Given the description of an element on the screen output the (x, y) to click on. 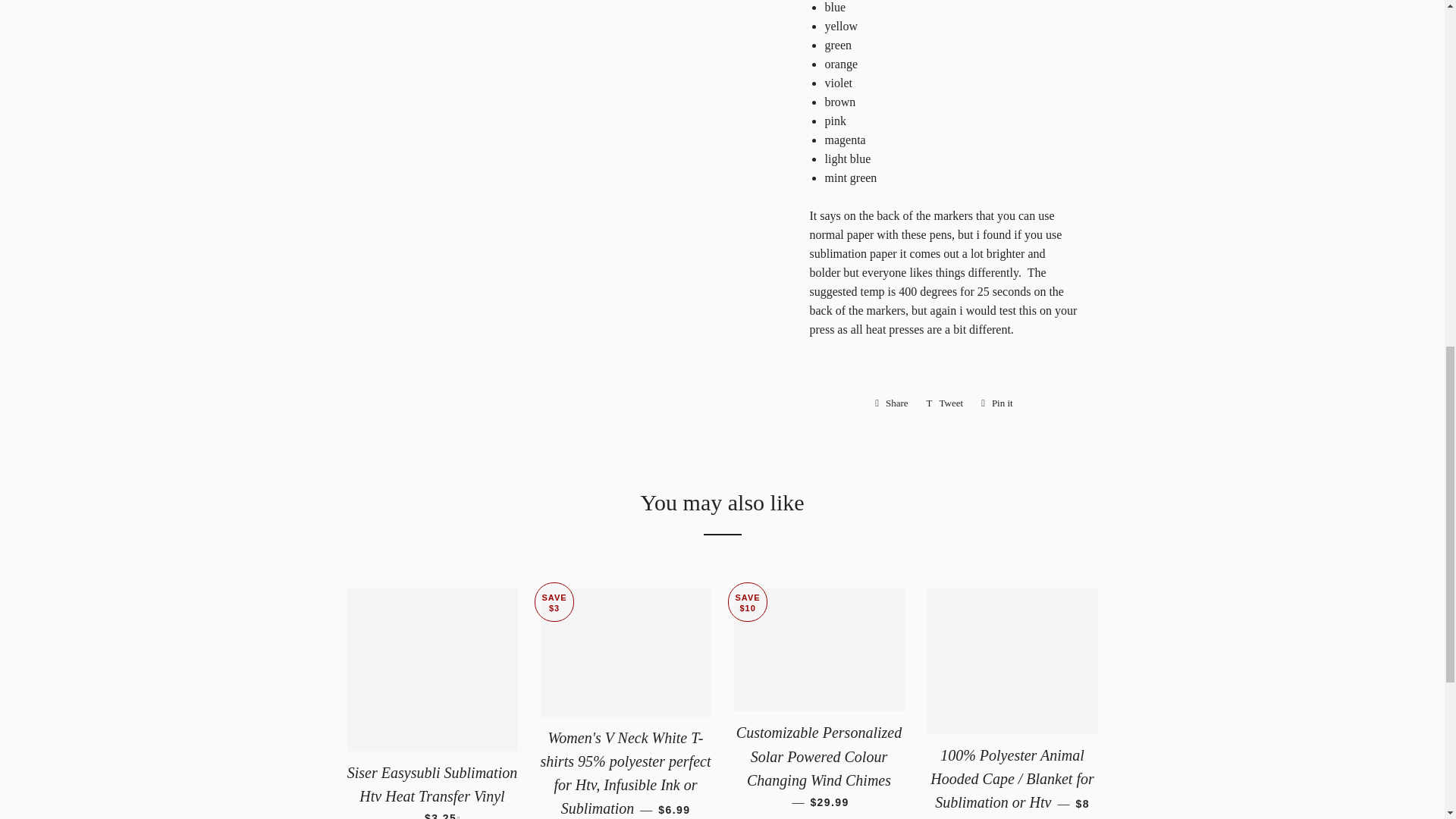
Pin on Pinterest (997, 403)
Tweet on Twitter (944, 403)
Share on Facebook (891, 403)
